Given the description of an element on the screen output the (x, y) to click on. 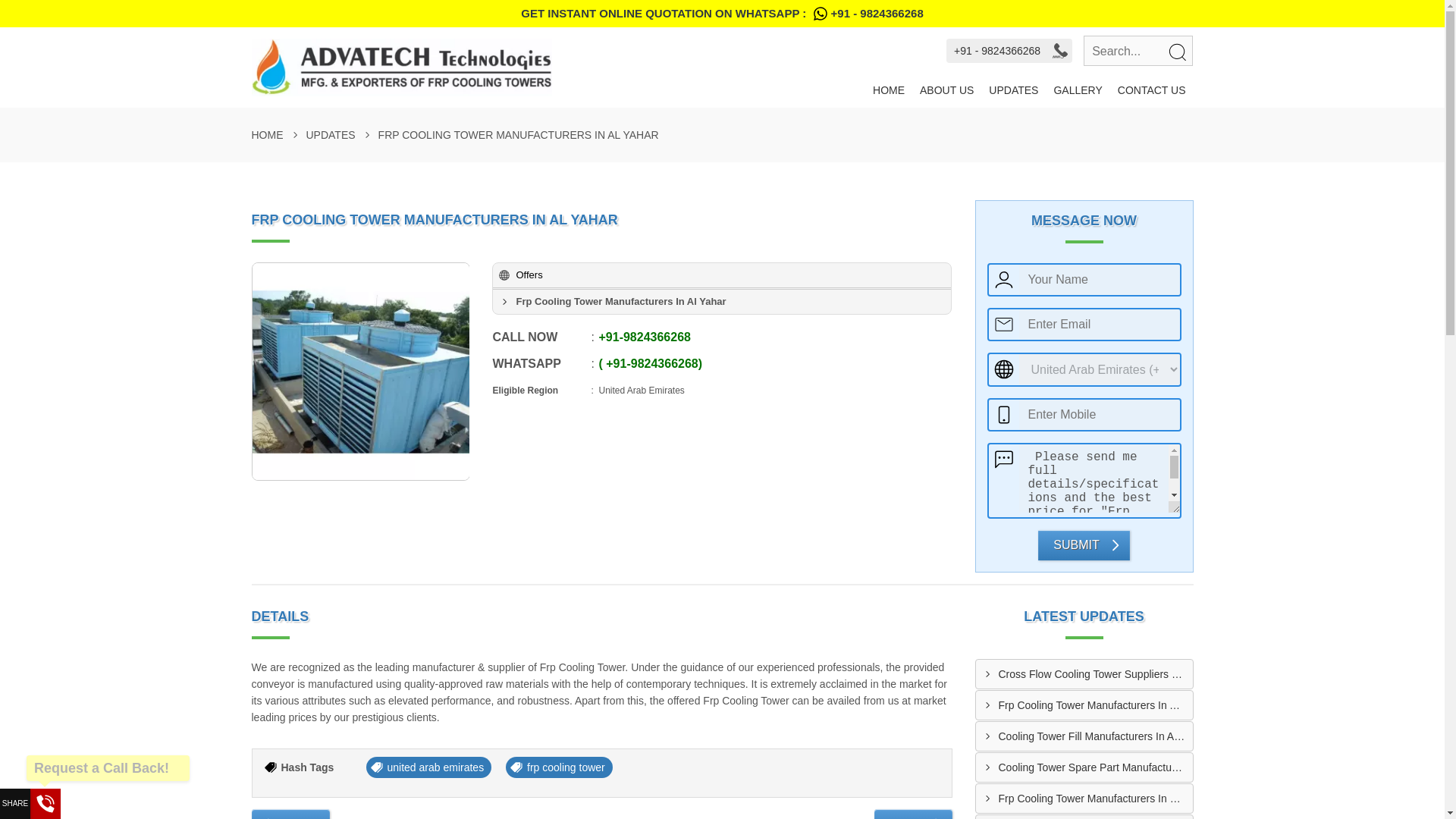
Cooling Tower Spare Part Manufacturers In Al Khawaneej (1094, 766)
Enter Your Mobile (1099, 413)
SUBMIT (1083, 544)
GALLERY (1077, 90)
Frp Cooling Tower Manufacturers In Al Bataeh (1094, 704)
Adva Tech Technologies (557, 67)
Frp Cooling Tower Manufacturers In Mina Jebel Ali (1094, 798)
PREV (290, 813)
UPDATES (1013, 90)
